Given the description of an element on the screen output the (x, y) to click on. 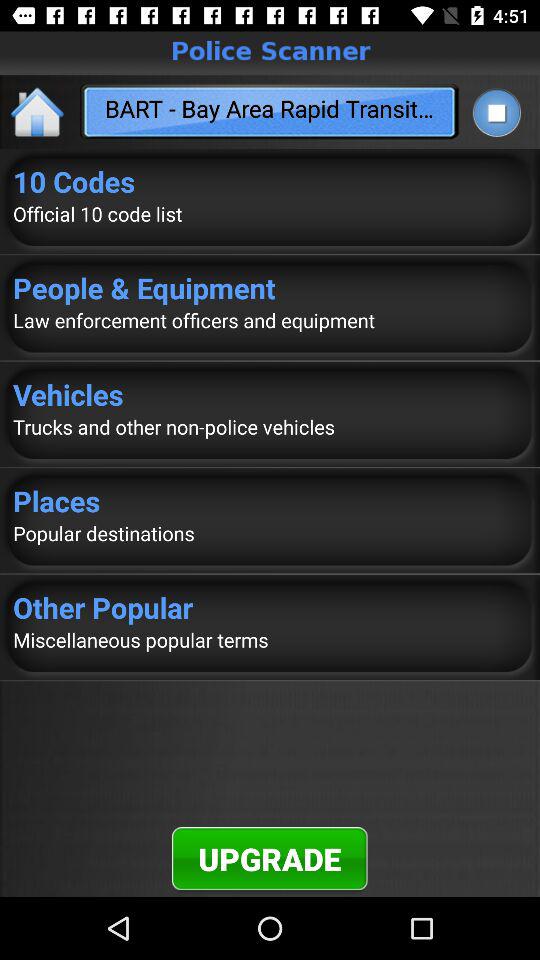
choose 10 codes app (269, 181)
